Given the description of an element on the screen output the (x, y) to click on. 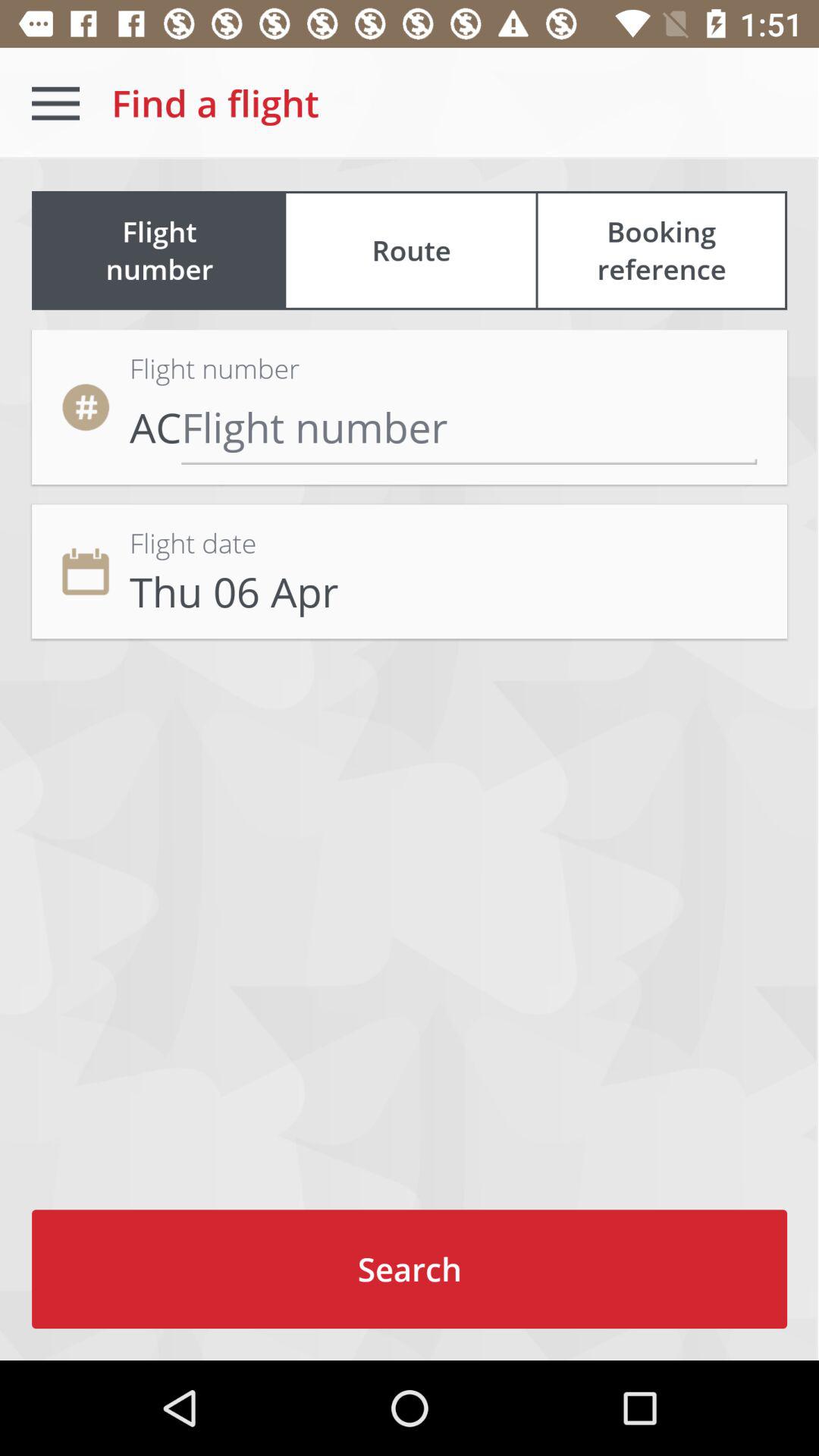
select search (409, 1268)
